Given the description of an element on the screen output the (x, y) to click on. 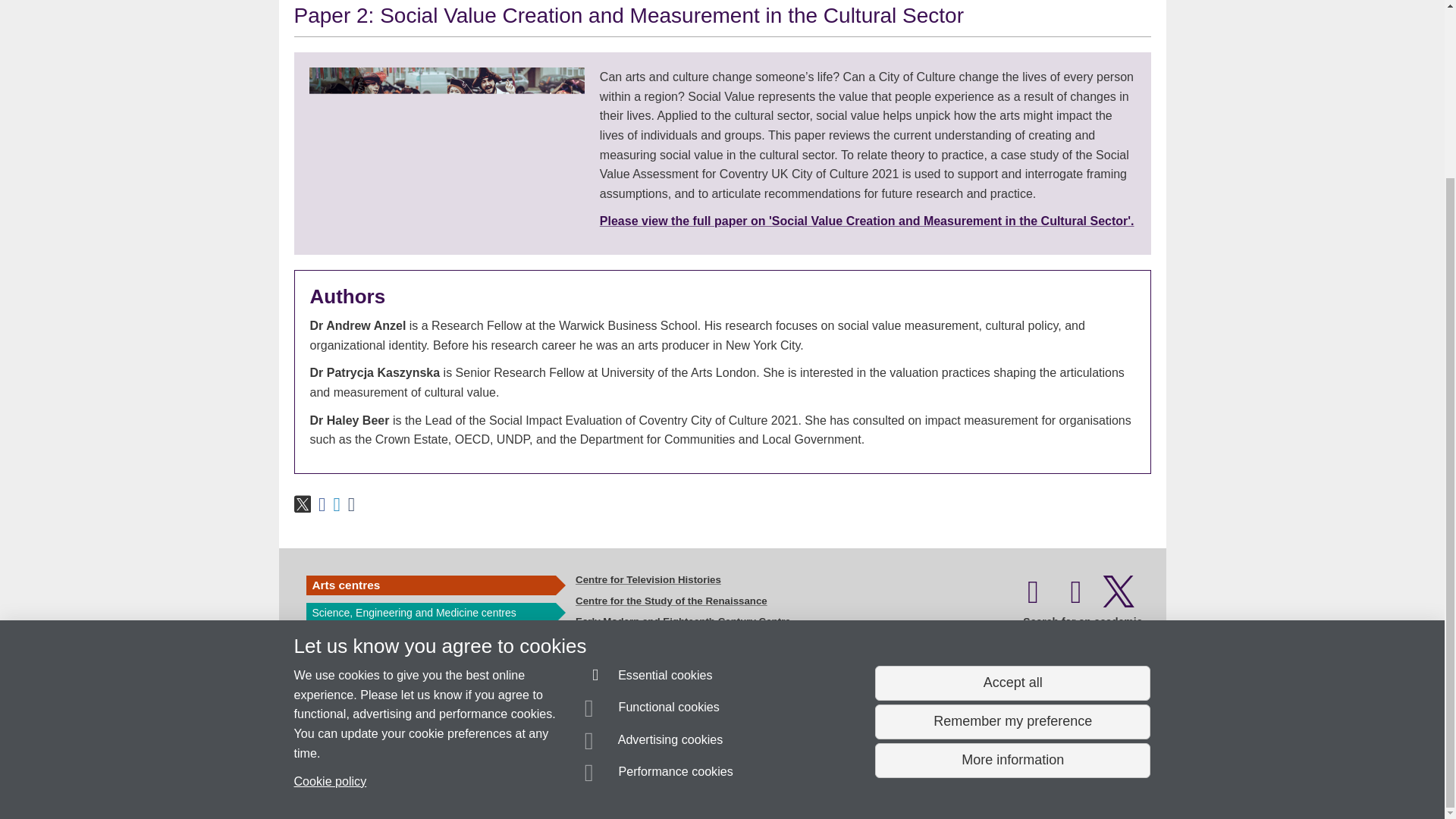
More information about SiteBuilder (365, 780)
Essential cookies are always on (649, 460)
University of Warwick on Facebook (1032, 598)
University of Warwick on Twitter (1118, 598)
Accept all functional, advertising and performance cookies (1012, 466)
Information about cookies (467, 780)
Privacy notice (673, 780)
